Given the description of an element on the screen output the (x, y) to click on. 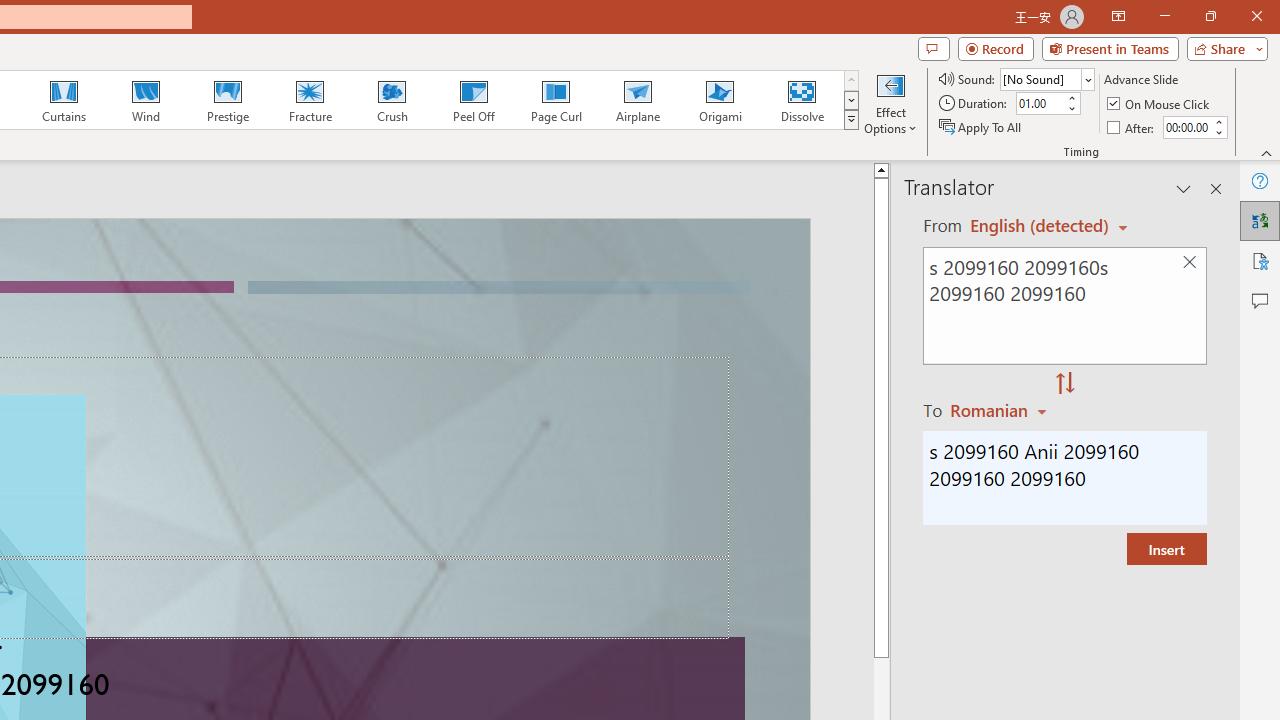
Duration (1039, 103)
